Given the description of an element on the screen output the (x, y) to click on. 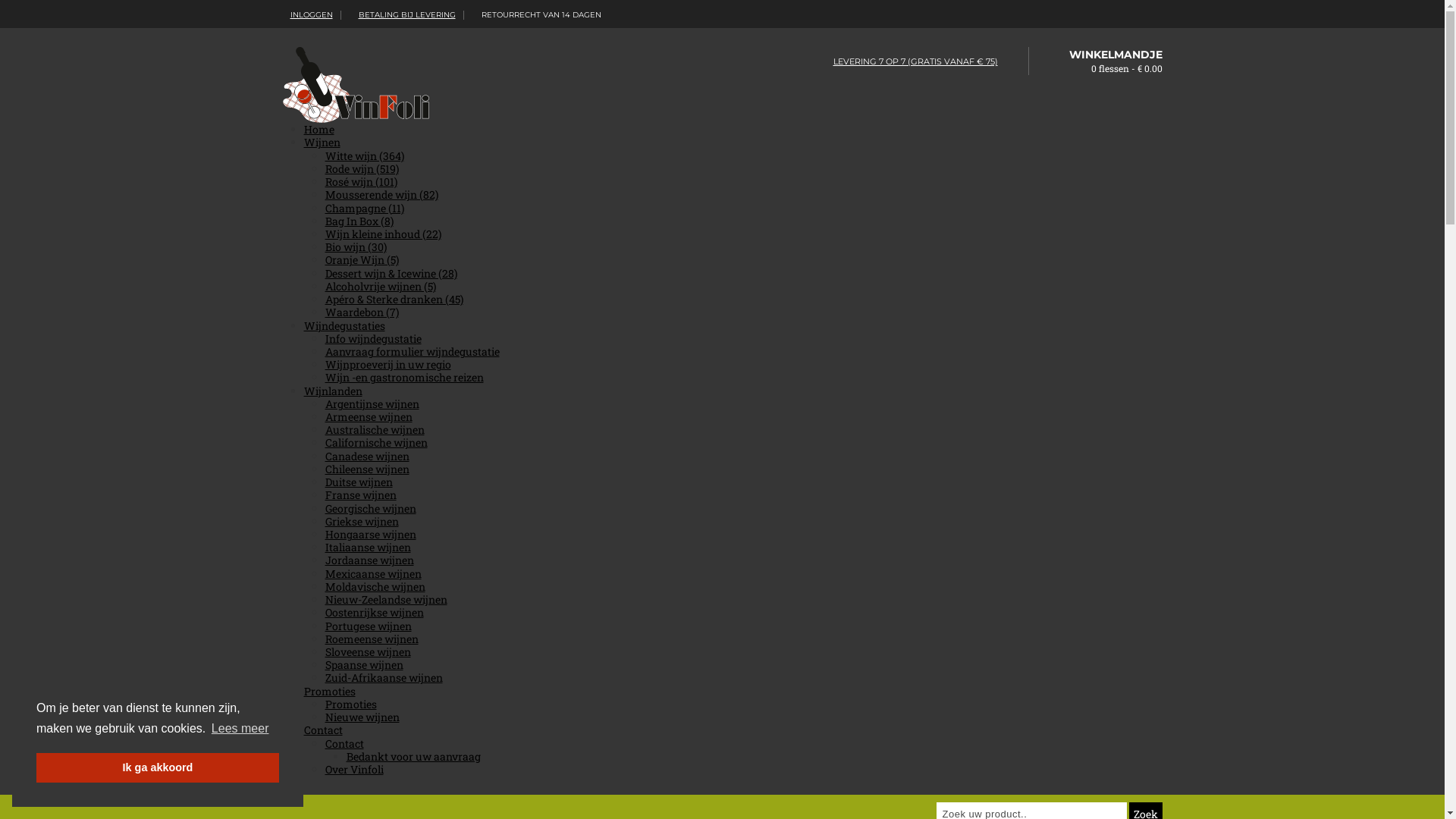
Wijn -en gastronomische reizen Element type: text (403, 377)
Home Element type: text (318, 129)
Aanvraag formulier wijndegustatie Element type: text (411, 351)
Jordaanse wijnen Element type: text (368, 559)
Oostenrijkse wijnen Element type: text (373, 612)
Armeense wijnen Element type: text (367, 416)
Chileense wijnen Element type: text (366, 468)
Moldavische wijnen Element type: text (374, 586)
Wijnen Element type: text (321, 141)
Spaanse wijnen Element type: text (363, 664)
Waardebon (7) Element type: text (361, 311)
Info wijndegustatie Element type: text (372, 338)
Australische wijnen Element type: text (373, 429)
Griekse wijnen Element type: text (361, 521)
Wijnproeverij in uw regio Element type: text (387, 364)
BETALING BIJ LEVERING Element type: text (402, 14)
Oranje Wijn (5) Element type: text (361, 259)
Sloveense wijnen Element type: text (367, 651)
Roemeense wijnen Element type: text (370, 638)
Franse wijnen Element type: text (359, 494)
Californische wijnen Element type: text (375, 442)
Dessert wijn & Icewine (28) Element type: text (390, 273)
Zuid-Afrikaanse wijnen Element type: text (383, 677)
Hongaarse wijnen Element type: text (369, 534)
Lees meer Element type: text (240, 728)
Over Vinfoli Element type: text (353, 769)
Wijnlanden Element type: text (332, 390)
Champagne (11) Element type: text (363, 207)
Nieuwe wijnen Element type: text (361, 716)
Mousserende wijn (82) Element type: text (380, 194)
Bedankt voor uw aanvraag Element type: text (412, 756)
Mexicaanse wijnen Element type: text (372, 573)
Portugese wijnen Element type: text (367, 625)
Alcoholvrije wijnen (5) Element type: text (379, 286)
Ik ga akkoord Element type: text (157, 767)
Promoties Element type: text (350, 703)
Argentijnse wijnen Element type: text (371, 403)
VinFoli Element type: hover (355, 84)
INLOGGEN Element type: text (307, 14)
Bag In Box (8) Element type: text (358, 220)
Italiaanse wijnen Element type: text (367, 546)
Duitse wijnen Element type: text (358, 481)
Contact Element type: text (343, 742)
Wijndegustaties Element type: text (343, 325)
Wijn kleine inhoud (22) Element type: text (382, 233)
Canadese wijnen Element type: text (366, 455)
Witte wijn (364) Element type: text (363, 155)
Nieuw-Zeelandse wijnen Element type: text (385, 599)
Contact Element type: text (322, 729)
Bio wijn (30) Element type: text (354, 246)
Georgische wijnen Element type: text (369, 508)
Rode wijn (519) Element type: text (361, 168)
Promoties Element type: text (328, 691)
